Given the description of an element on the screen output the (x, y) to click on. 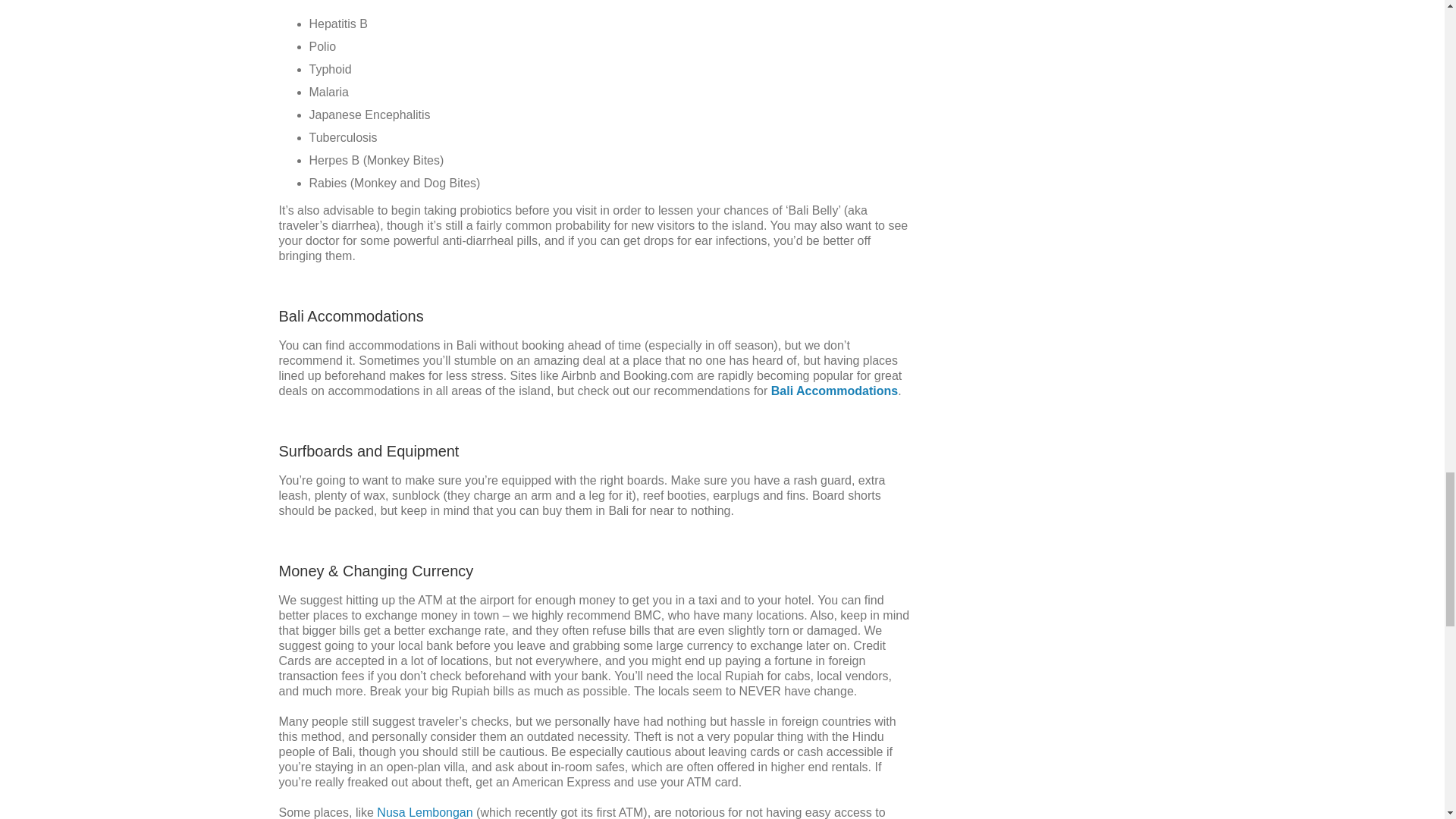
Nusa Lembongan (424, 812)
Bali Accommodations (834, 390)
